Given the description of an element on the screen output the (x, y) to click on. 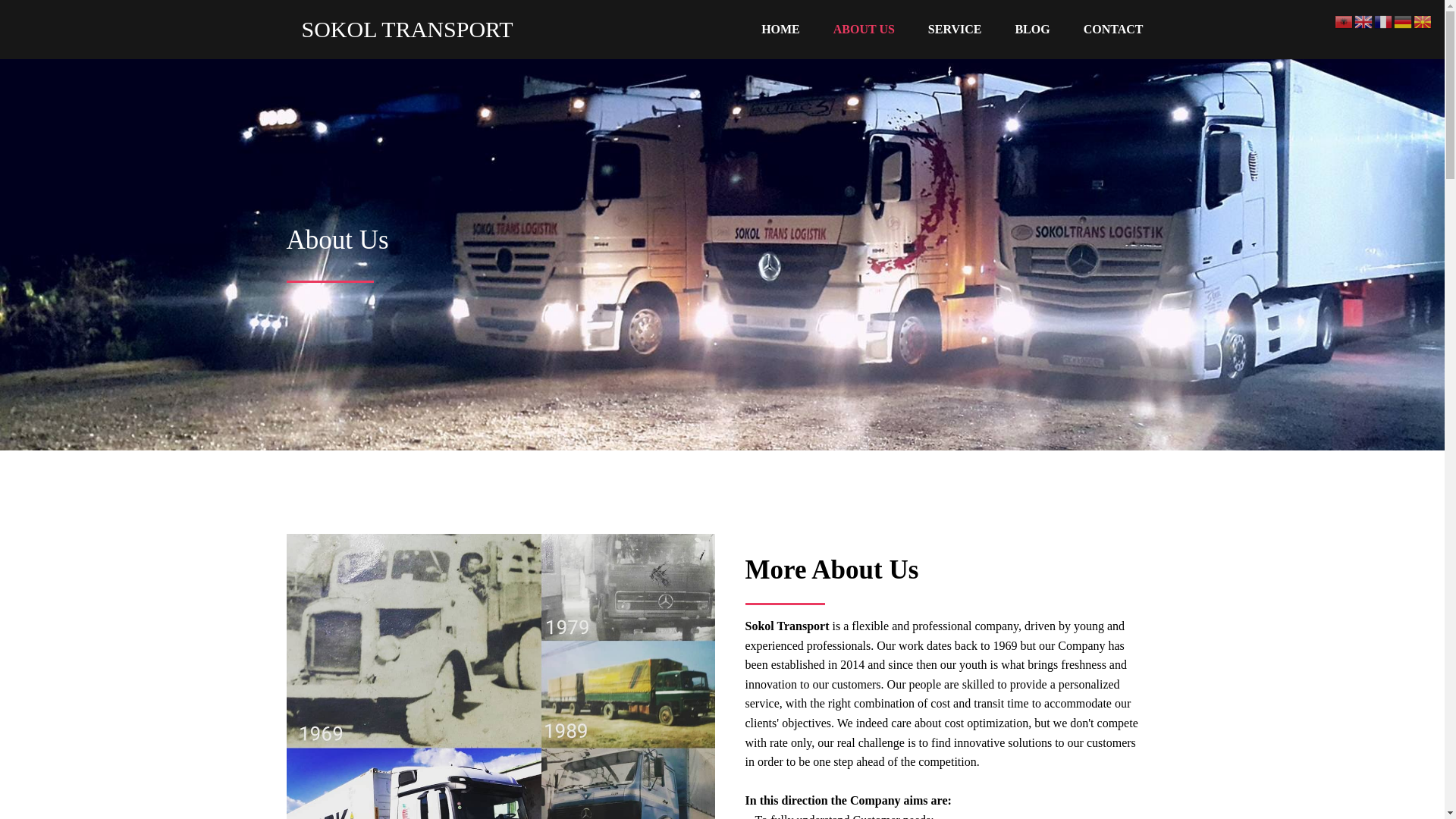
SERVICE (954, 29)
Shqip (1344, 20)
English (1364, 20)
ABOUT US (864, 29)
HOME (780, 29)
SOKOL TRANSPORT (411, 29)
BLOG (1031, 29)
CONTACT (1113, 29)
